Given the description of an element on the screen output the (x, y) to click on. 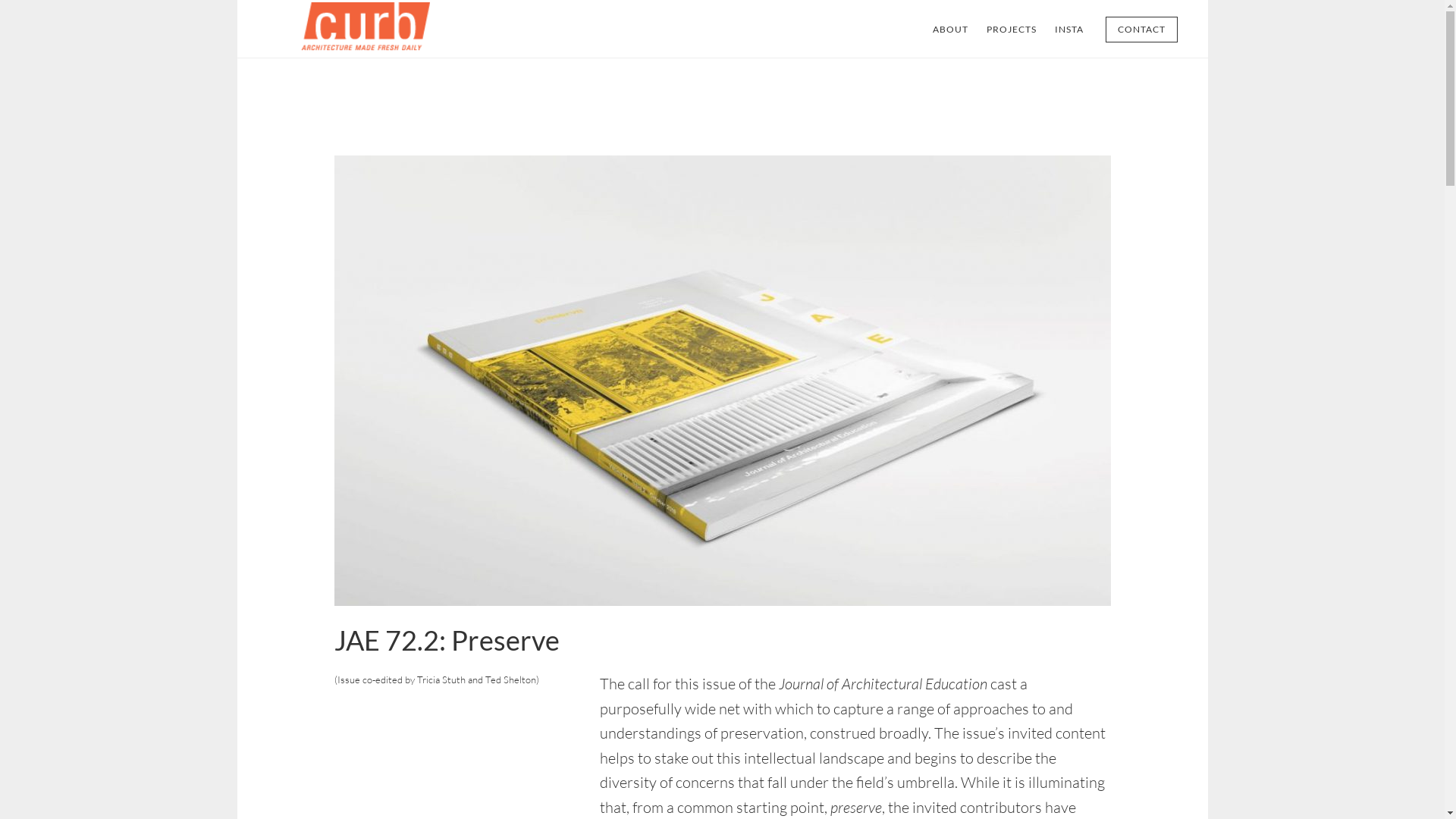
Skip to main content Element type: text (236, 0)
INSTA Element type: text (1068, 29)
PROJECTS Element type: text (1010, 29)
ABOUT Element type: text (950, 29)
CURB Element type: text (380, 28)
CONTACT Element type: text (1141, 29)
